Given the description of an element on the screen output the (x, y) to click on. 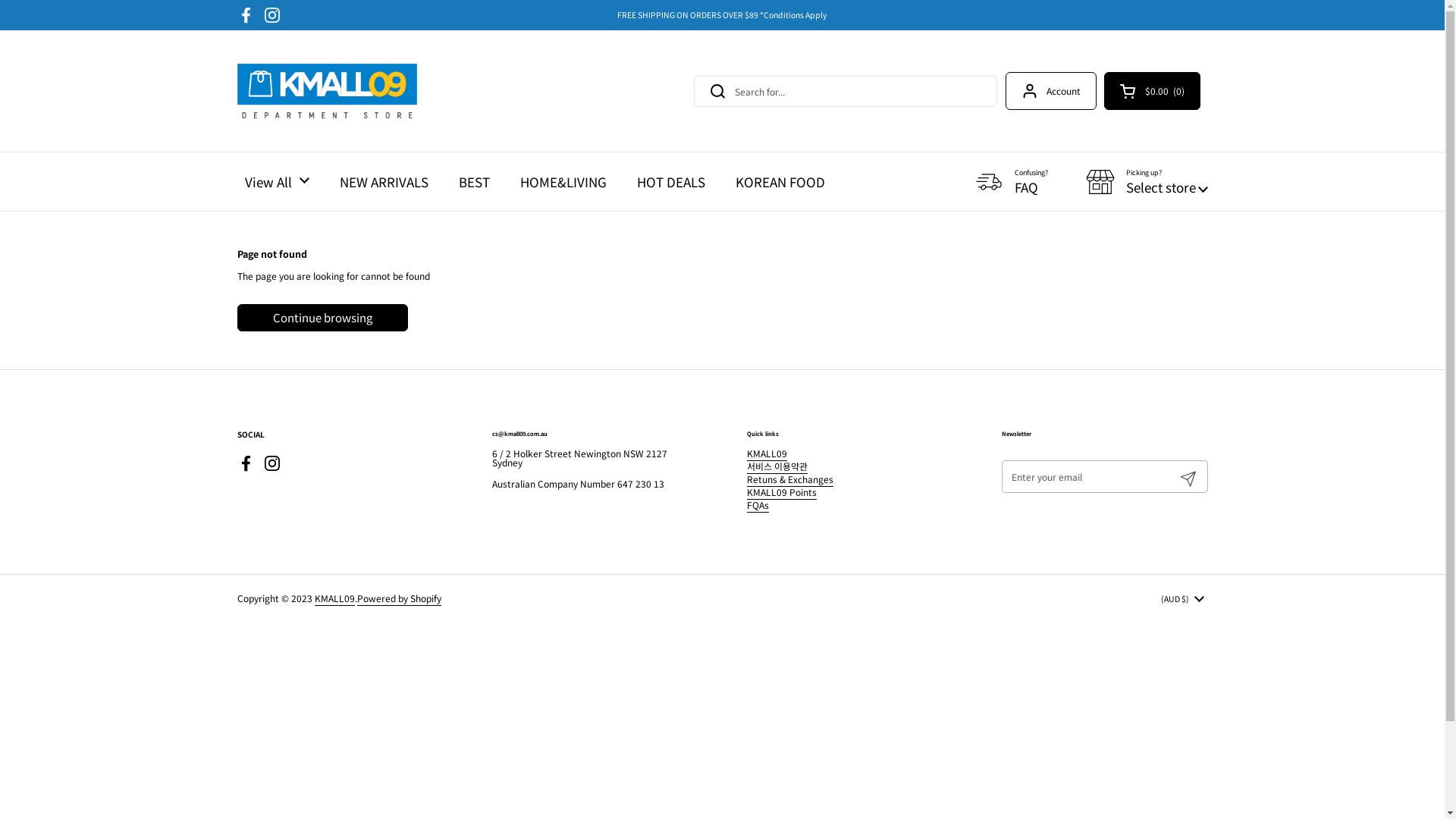
Facebook Element type: text (245, 15)
KMALL09 Element type: text (766, 452)
(AUD $) Element type: text (1181, 598)
KMALL09 Element type: text (333, 598)
BEST Element type: text (473, 181)
KMALL09 Element type: hover (326, 90)
Powered by Shopify Element type: text (398, 598)
Facebook Element type: text (245, 463)
Continue browsing Element type: text (321, 317)
HOME&LIVING Element type: text (563, 181)
Confusing?
FAQ Element type: text (1010, 180)
NEW ARRIVALS Element type: text (383, 181)
Retuns & Exchanges Element type: text (789, 478)
FQAs Element type: text (757, 504)
KMALL09 Points Element type: text (780, 492)
KOREAN FOOD Element type: text (780, 181)
Open cart
$0.00
  (
0
) Element type: text (1152, 90)
Submit Element type: text (1188, 475)
Instagram Element type: text (271, 15)
Instagram Element type: text (271, 463)
Skip to content Element type: text (0, 0)
HOT DEALS Element type: text (670, 181)
View All Element type: text (276, 181)
Account Element type: text (1050, 90)
FREE SHIPPING ON ORDERS OVER $89 *Conditions Apply Element type: text (721, 14)
